Given the description of an element on the screen output the (x, y) to click on. 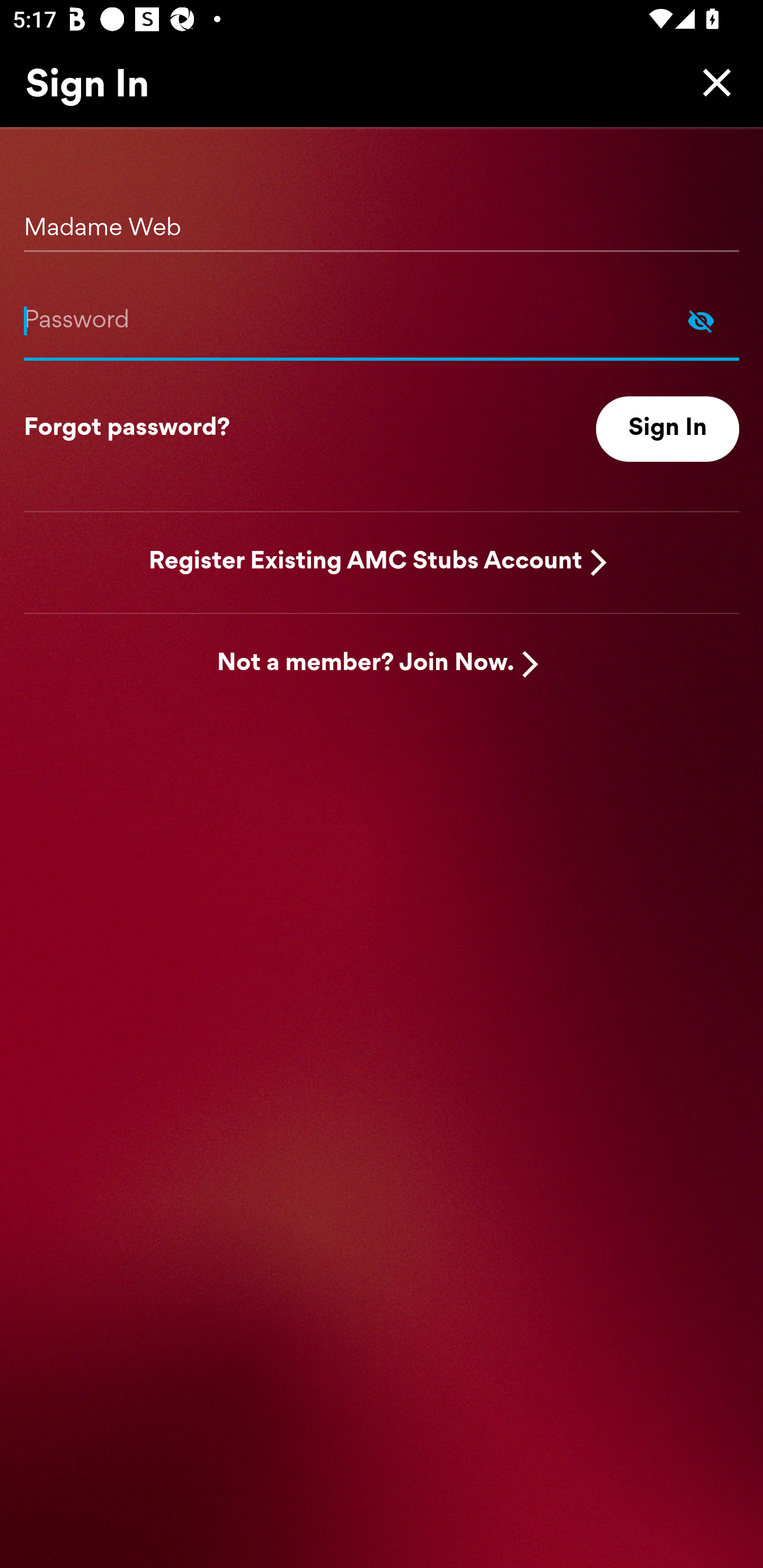
Close (712, 82)
Madame Web (381, 220)
Hide Password (381, 320)
Hide Password (701, 320)
Forgot password? (126, 428)
Sign In (667, 428)
Register Existing AMC Stubs Account (365, 561)
Not a member? Join Now. (365, 663)
